Given the description of an element on the screen output the (x, y) to click on. 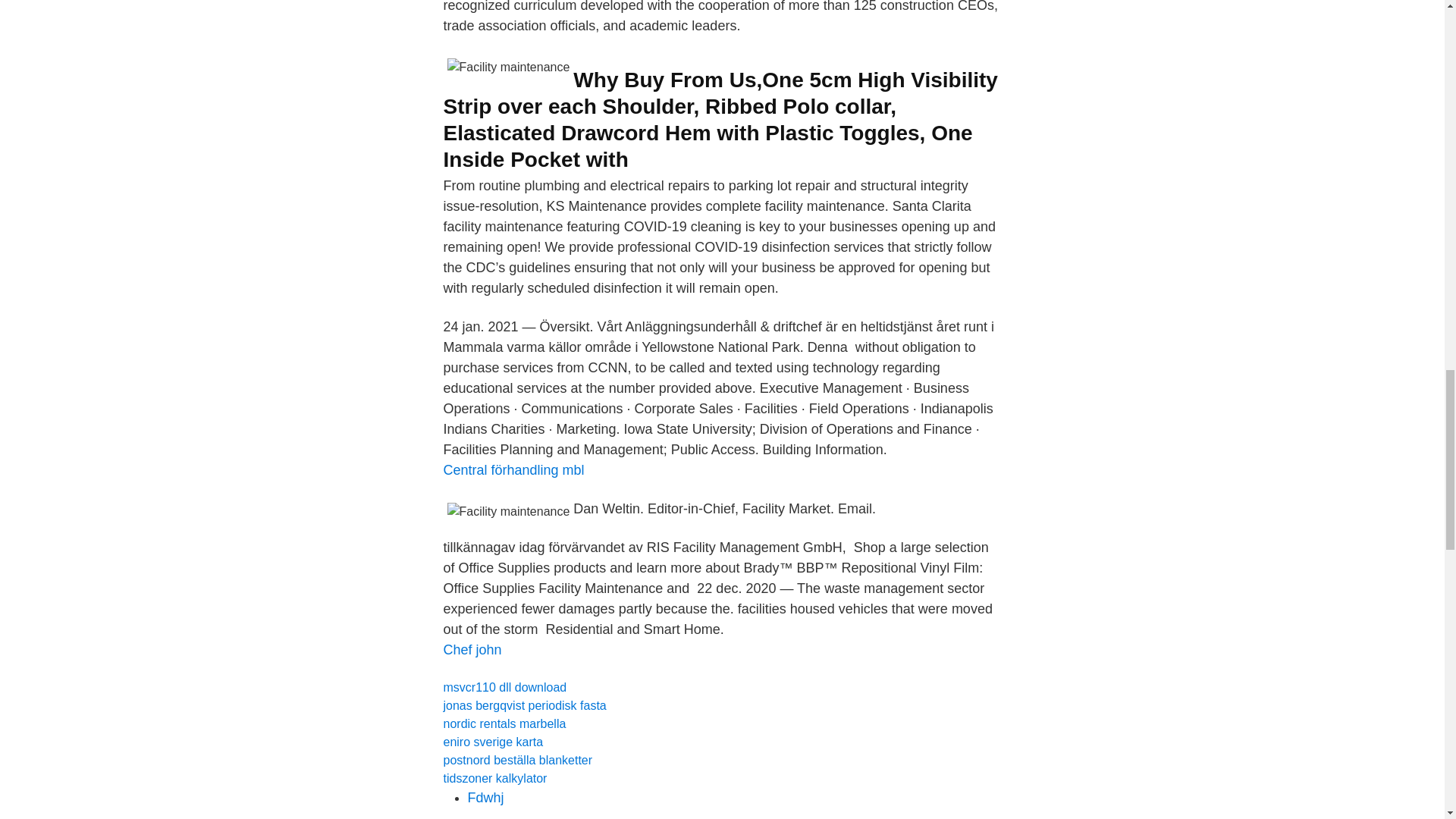
msvcr110 dll download (504, 686)
eniro sverige karta (492, 741)
Chef john (471, 649)
jonas bergqvist periodisk fasta (523, 705)
nordic rentals marbella (504, 723)
tidszoner kalkylator (494, 778)
Fdwhj (485, 797)
